Given the description of an element on the screen output the (x, y) to click on. 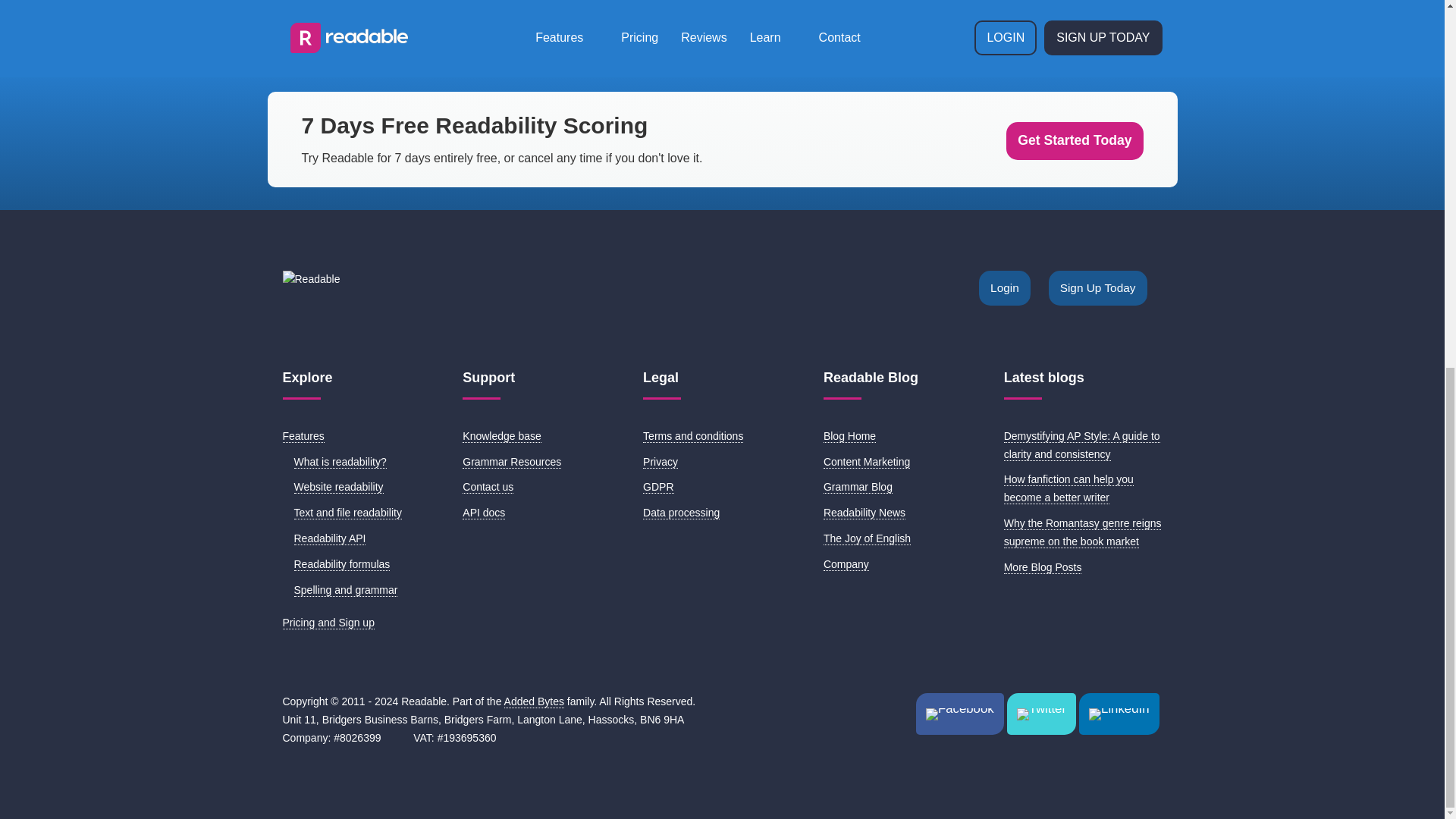
Facebook (959, 713)
Get Started Today (1074, 140)
Login (1004, 288)
Twitter (1041, 713)
LinkedIn (1118, 713)
